Given the description of an element on the screen output the (x, y) to click on. 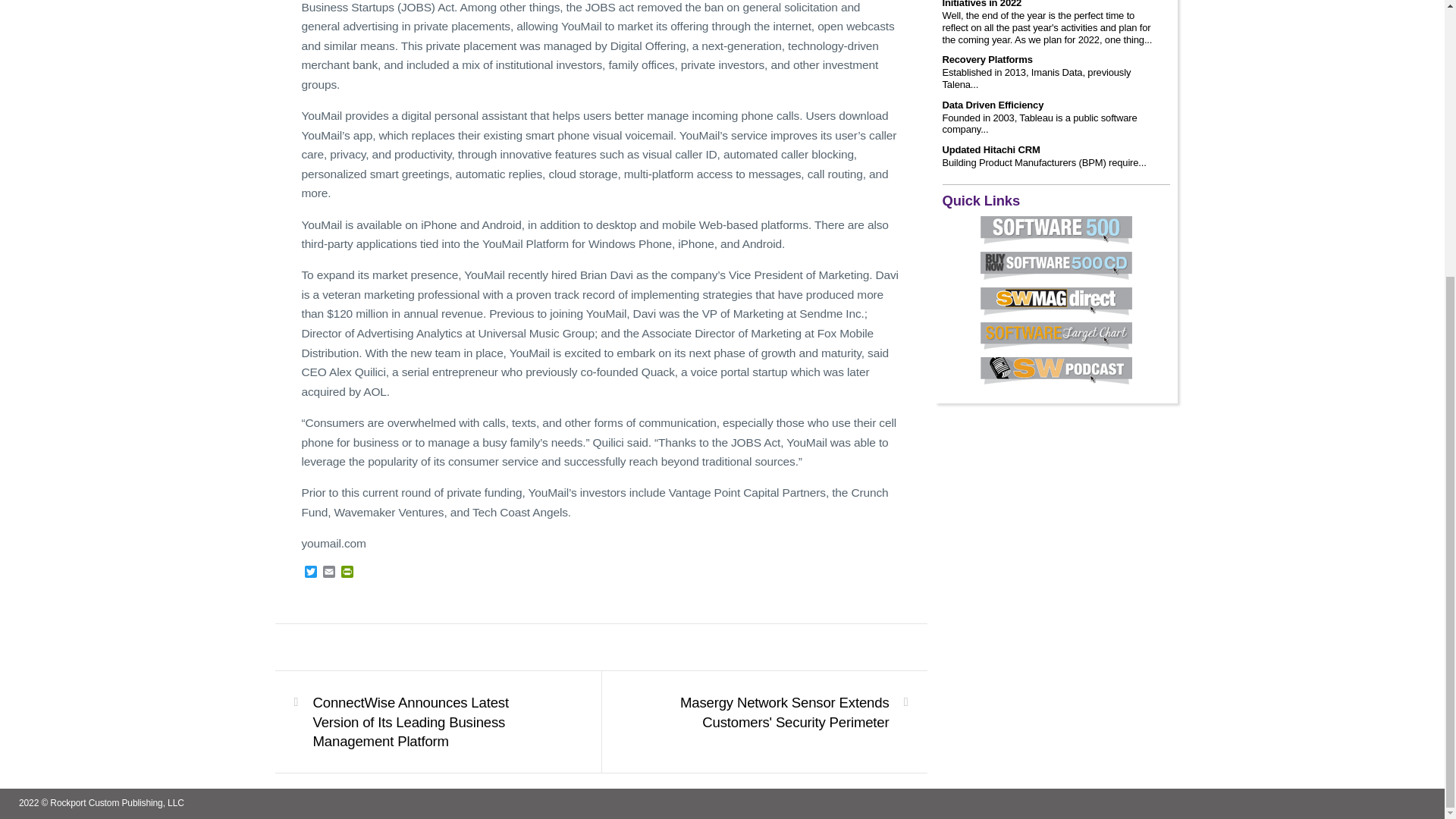
Twitter (310, 572)
Updated Hitachi CRM (990, 149)
Next (773, 712)
Twitter (310, 572)
Email (328, 572)
Recovery Platforms (987, 59)
Email (328, 572)
Masergy Network Sensor Extends Customers' Security Perimeter (773, 712)
PrintFriendly (346, 572)
